Given the description of an element on the screen output the (x, y) to click on. 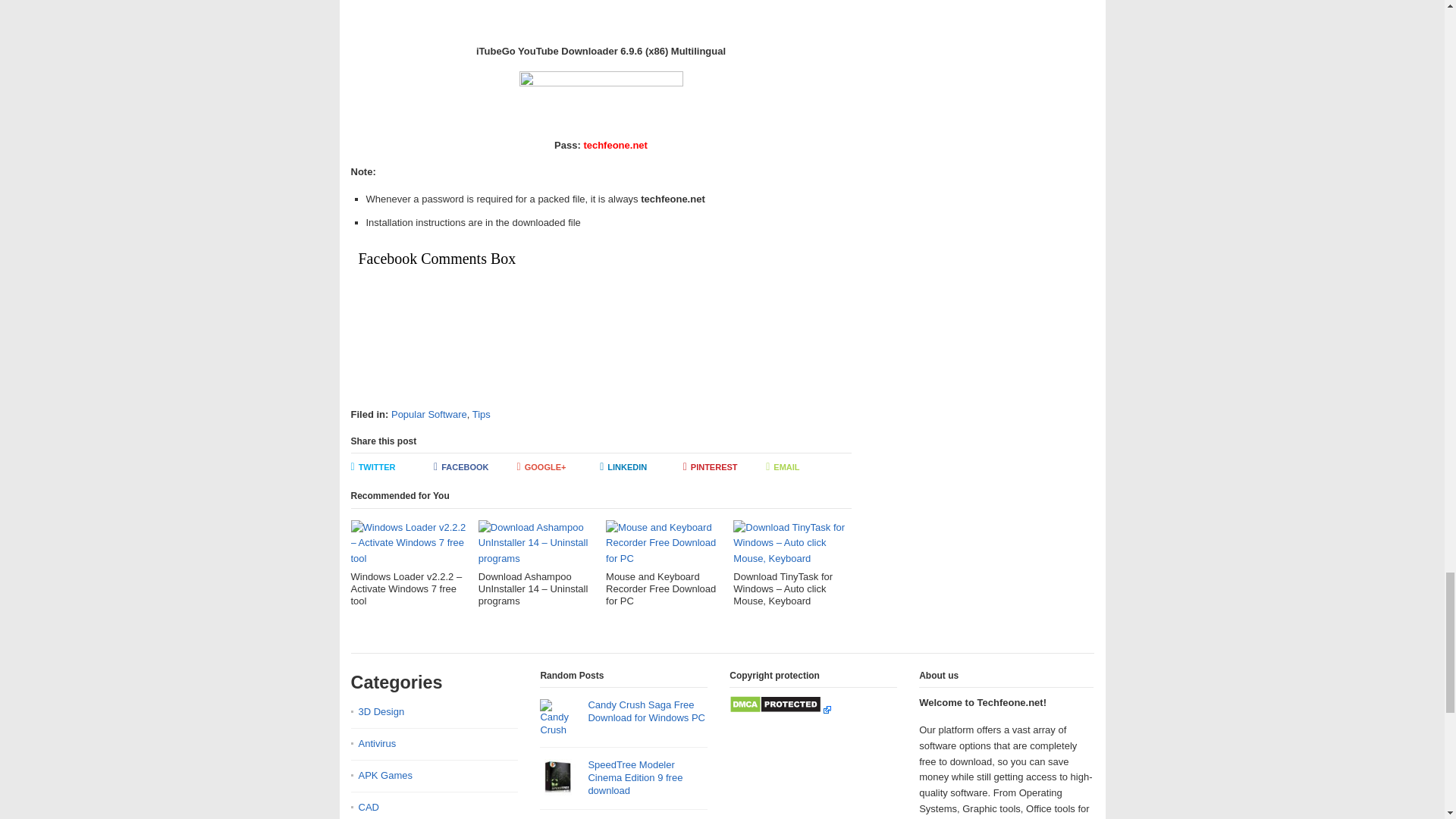
Mouse and Keyboard Recorder Free Download for PC (664, 563)
TWITTER (391, 468)
Popular Software (429, 414)
FACEBOOK (474, 468)
PINTEREST (724, 468)
Tips (480, 414)
EMAIL (806, 468)
LINKEDIN (640, 468)
